Given the description of an element on the screen output the (x, y) to click on. 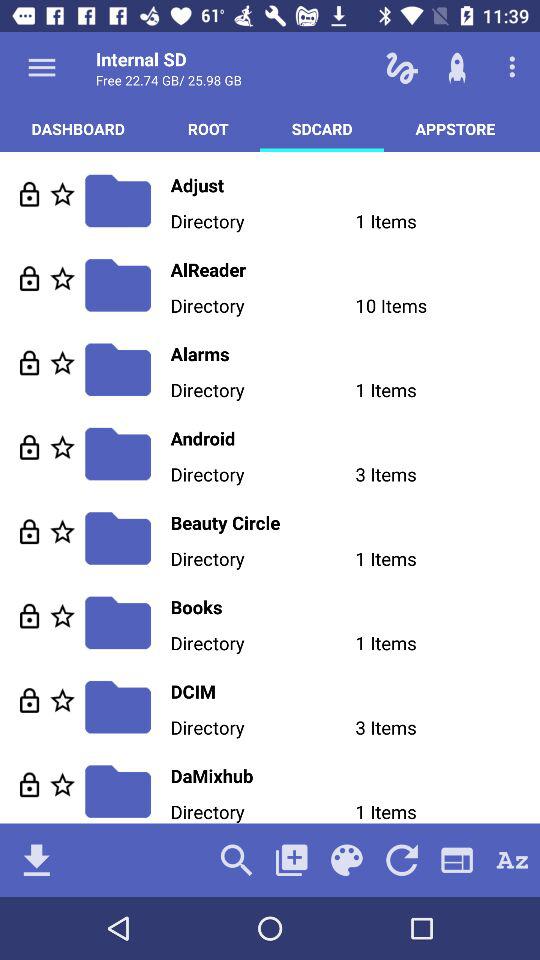
toggle security option (29, 362)
